Given the description of an element on the screen output the (x, y) to click on. 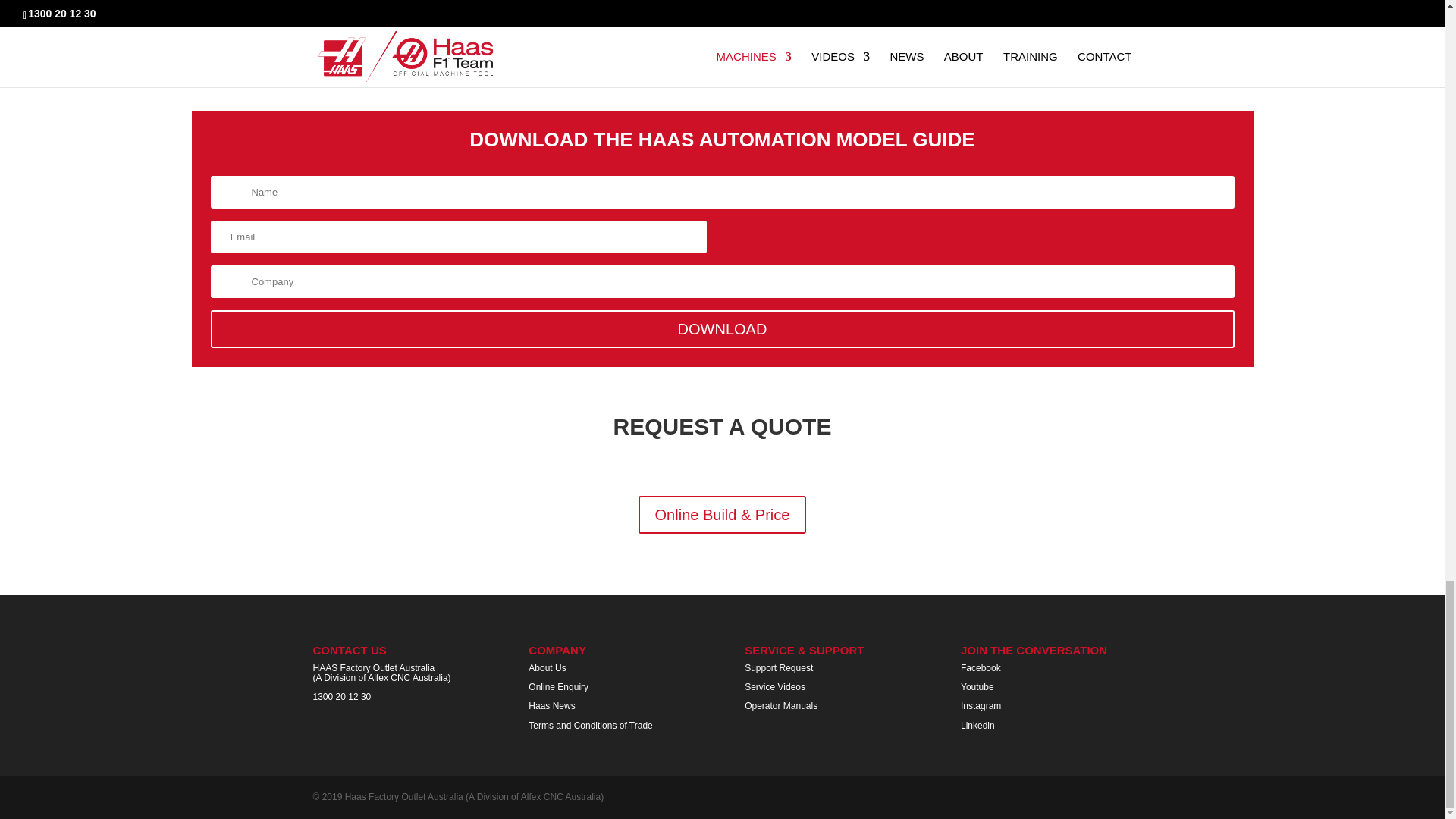
Haas News (551, 706)
Terms and Conditions of Trade (590, 724)
Support Request (778, 667)
EC-1600ZT (442, 43)
About Us (547, 667)
Online Enquiry (558, 686)
EC-1600ZT-5AX (1002, 43)
DOWNLOAD (722, 329)
